Given the description of an element on the screen output the (x, y) to click on. 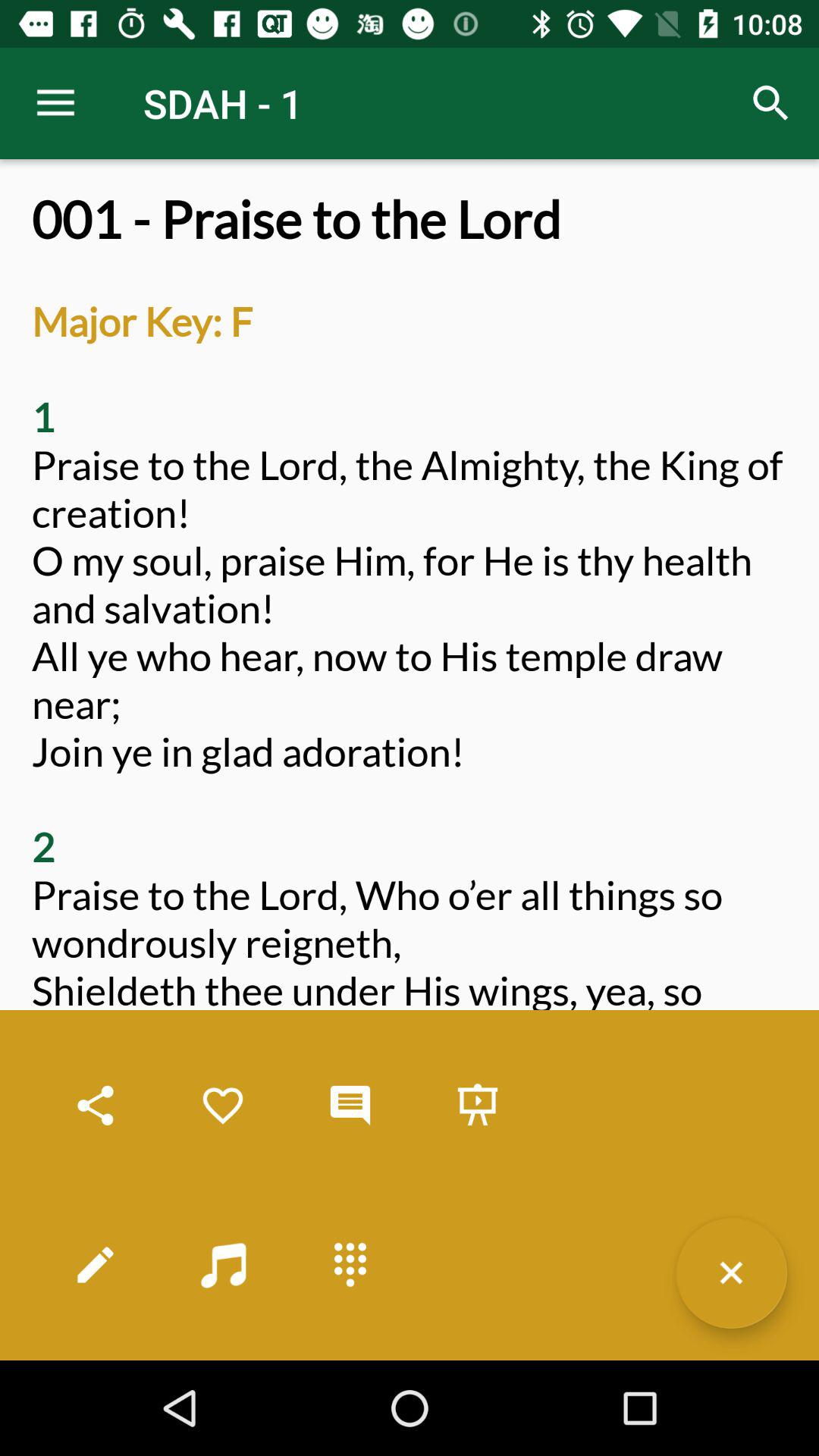
open the item above the 001 praise to (55, 103)
